Given the description of an element on the screen output the (x, y) to click on. 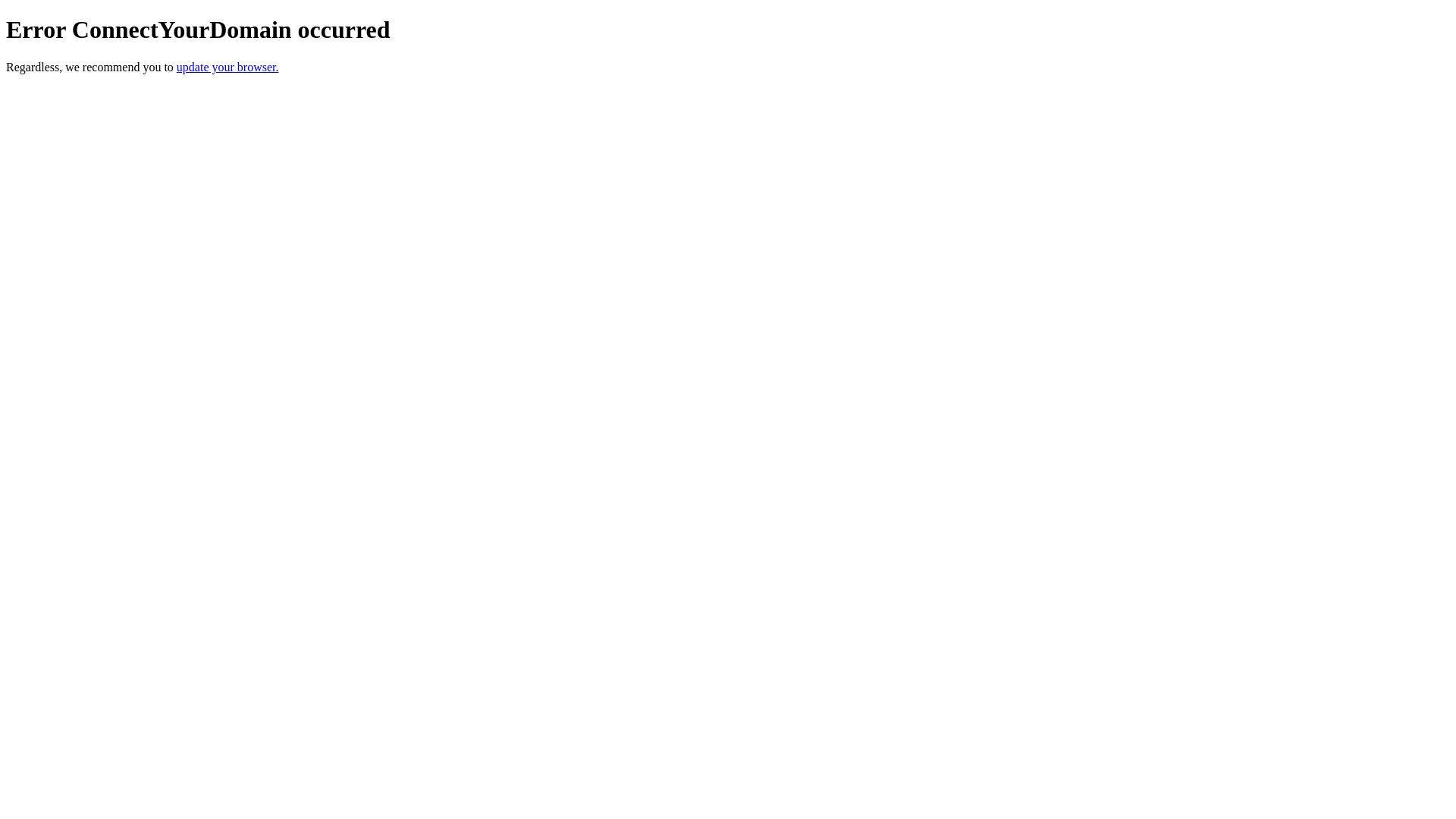
update your browser. Element type: text (227, 66)
